Given the description of an element on the screen output the (x, y) to click on. 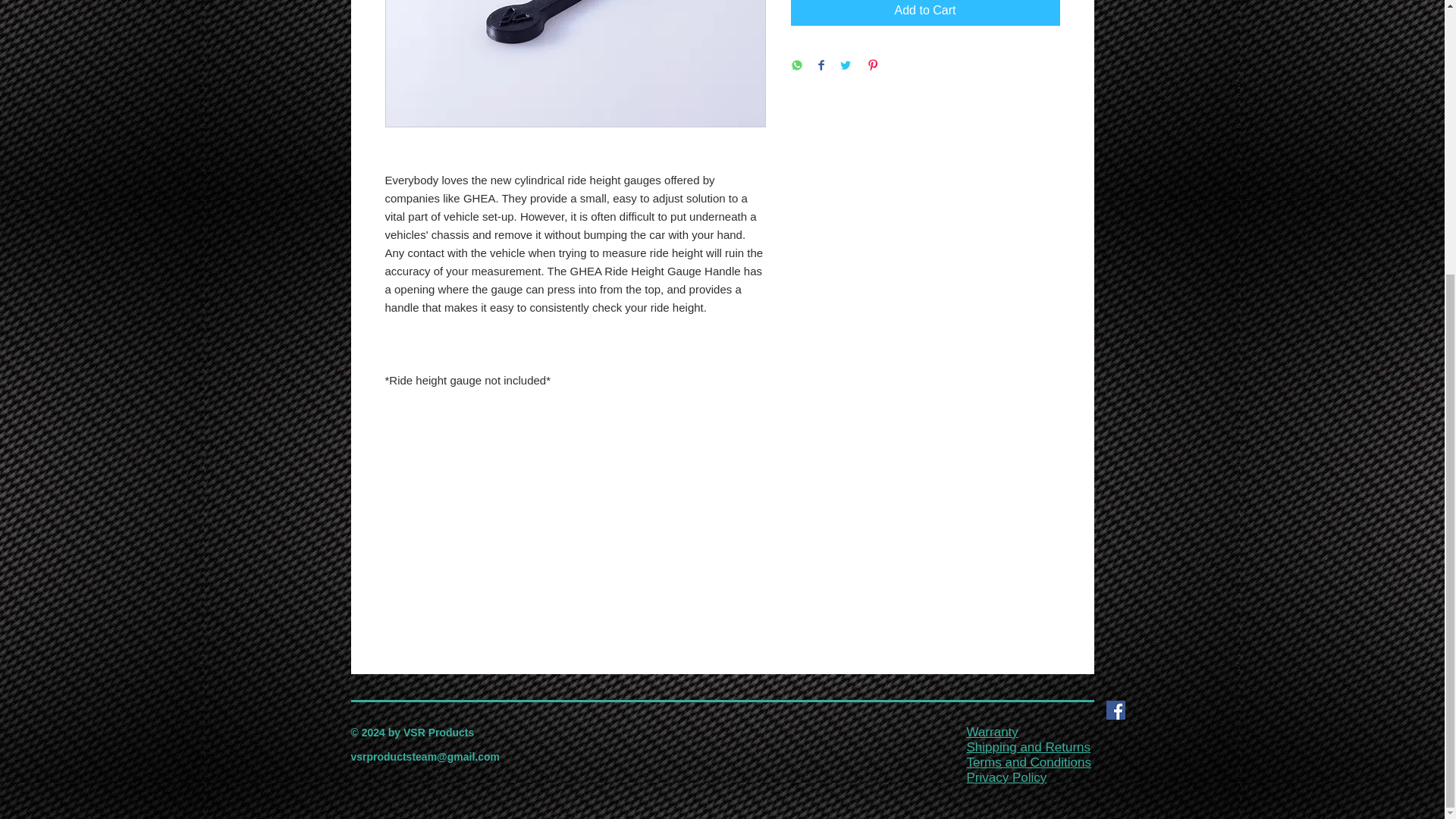
Privacy Policy (1006, 777)
Shipping and Returns (1028, 747)
Warranty (991, 731)
Terms and Conditions (1028, 762)
Add to Cart (924, 12)
